Given the description of an element on the screen output the (x, y) to click on. 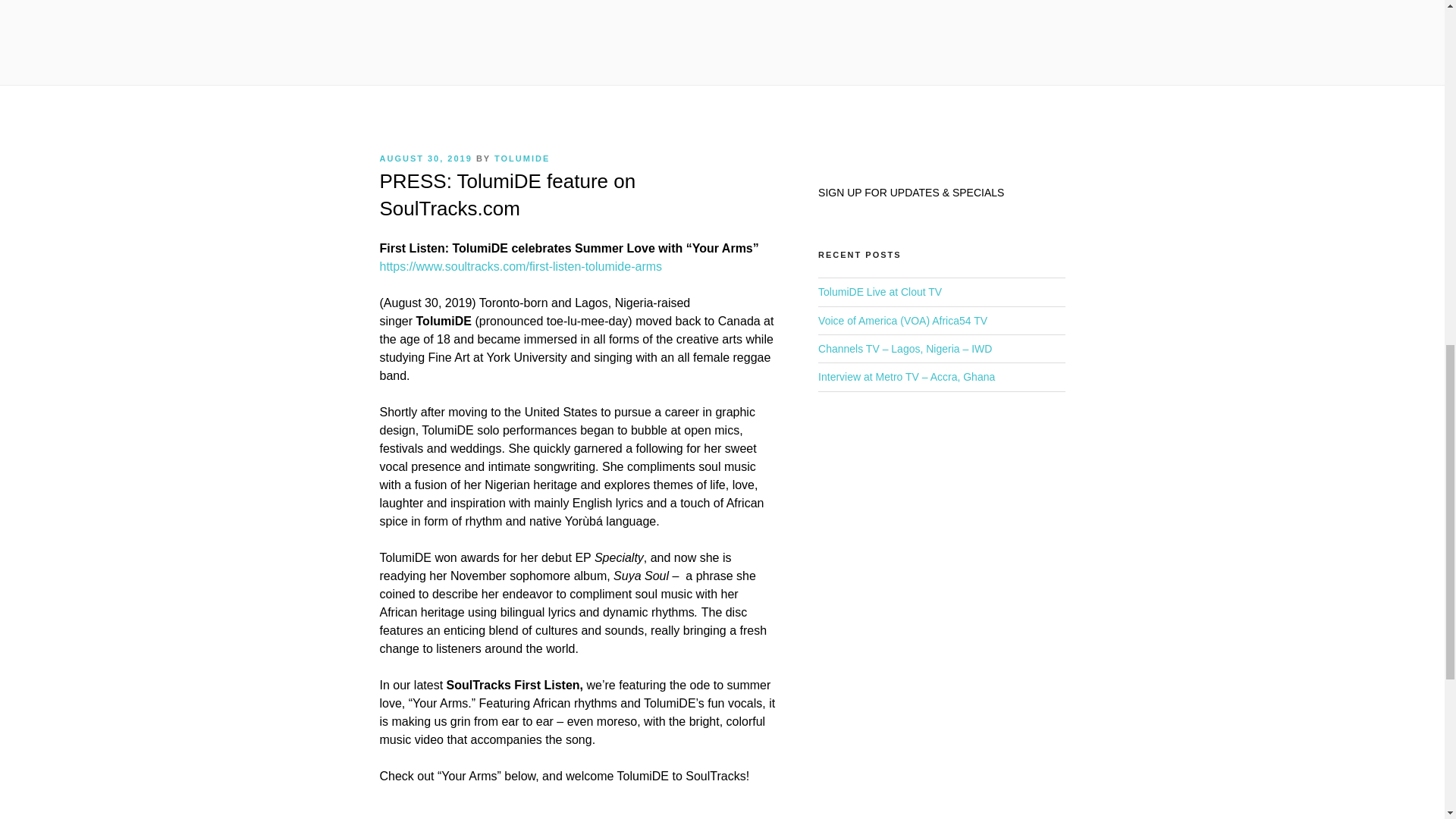
AUGUST 30, 2019 (424, 157)
TOLUMIDE (522, 157)
TolumiDE Live at Clout TV (880, 291)
